Given the description of an element on the screen output the (x, y) to click on. 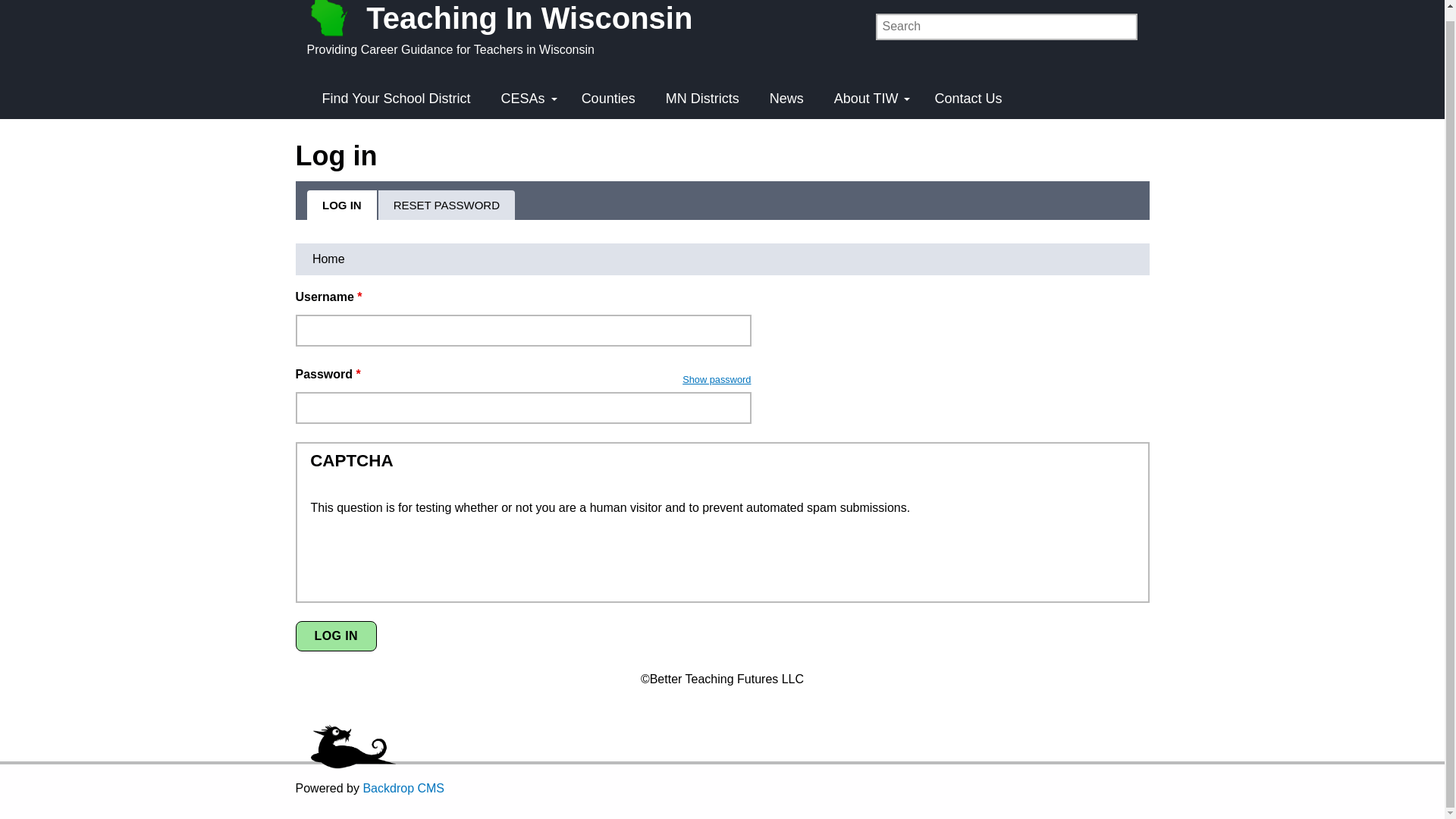
Check out Teacher Salaries in Minnesota Districts (702, 98)
Log in (336, 635)
About TIW (869, 98)
News (786, 98)
RESET PASSWORD (446, 205)
Home (506, 20)
Enter the keywords you wish to search for. (1006, 26)
Log in (336, 635)
Show password (716, 379)
MN Districts (702, 98)
Contact Us (967, 98)
Backdrop CMS (403, 788)
Counties (608, 98)
CESAs (526, 98)
Home (328, 259)
